Given the description of an element on the screen output the (x, y) to click on. 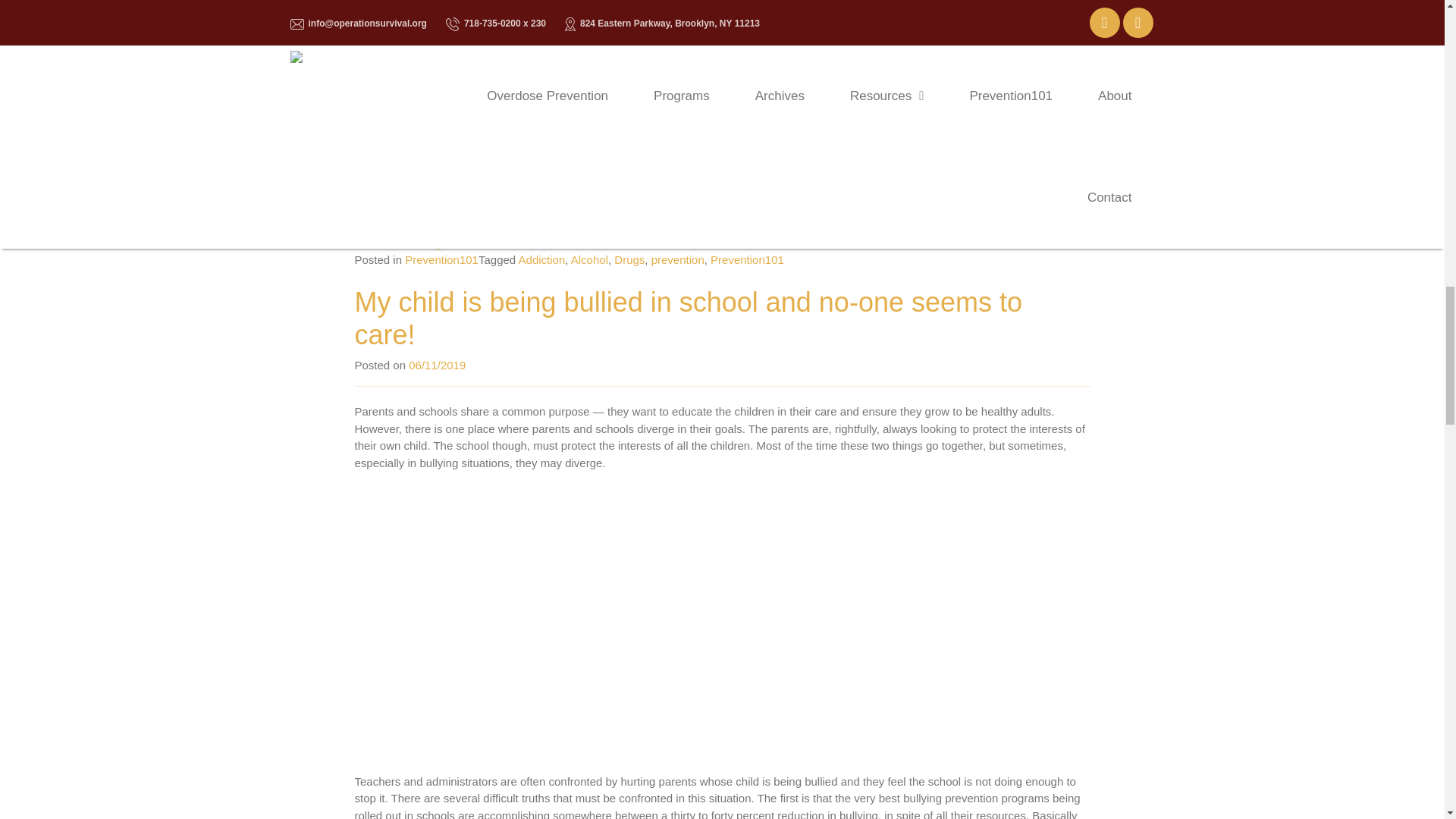
Addiction (542, 259)
Prevention101 (441, 259)
Alcohol (589, 259)
